Given the description of an element on the screen output the (x, y) to click on. 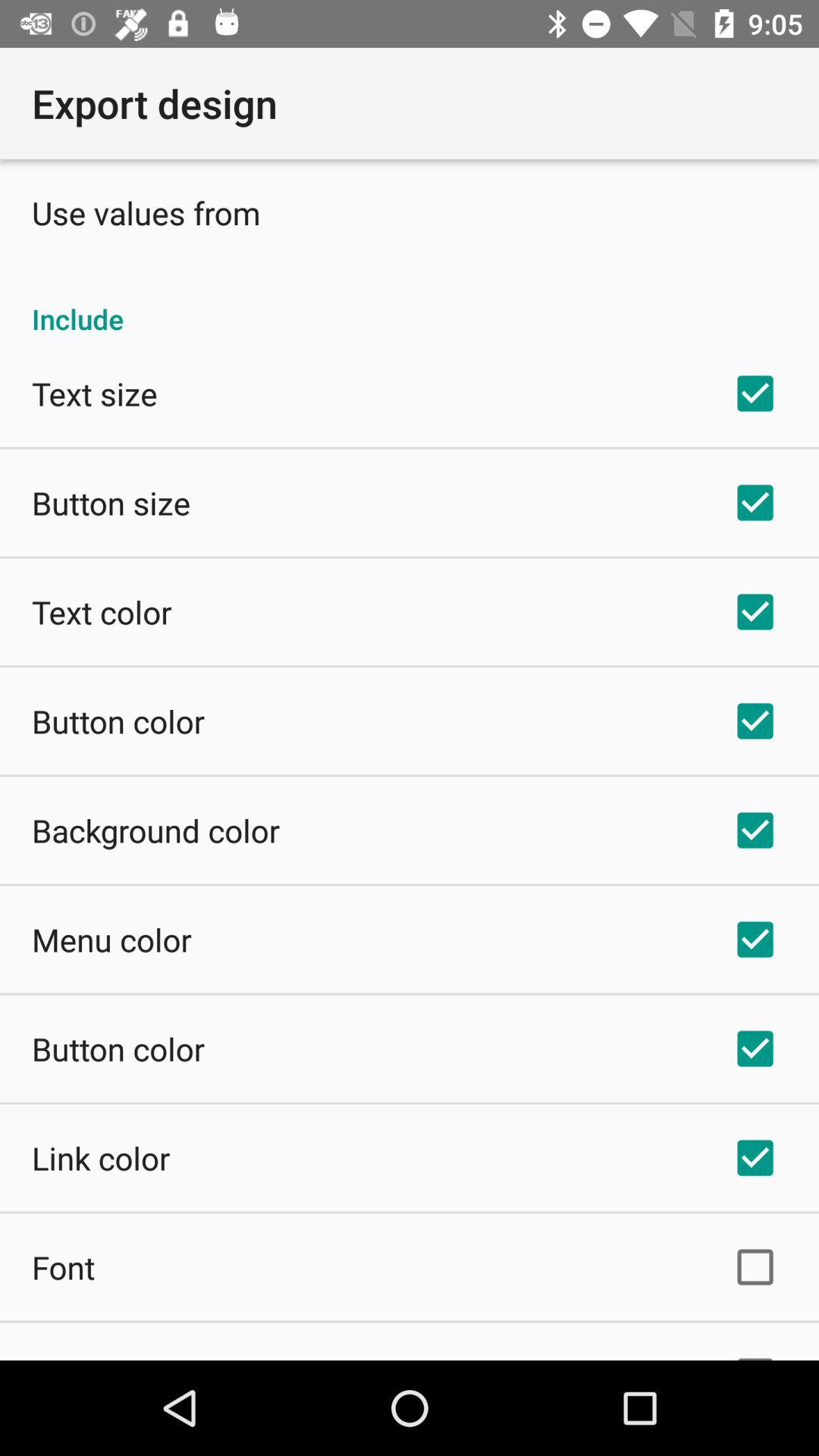
choose font item (62, 1266)
